Given the description of an element on the screen output the (x, y) to click on. 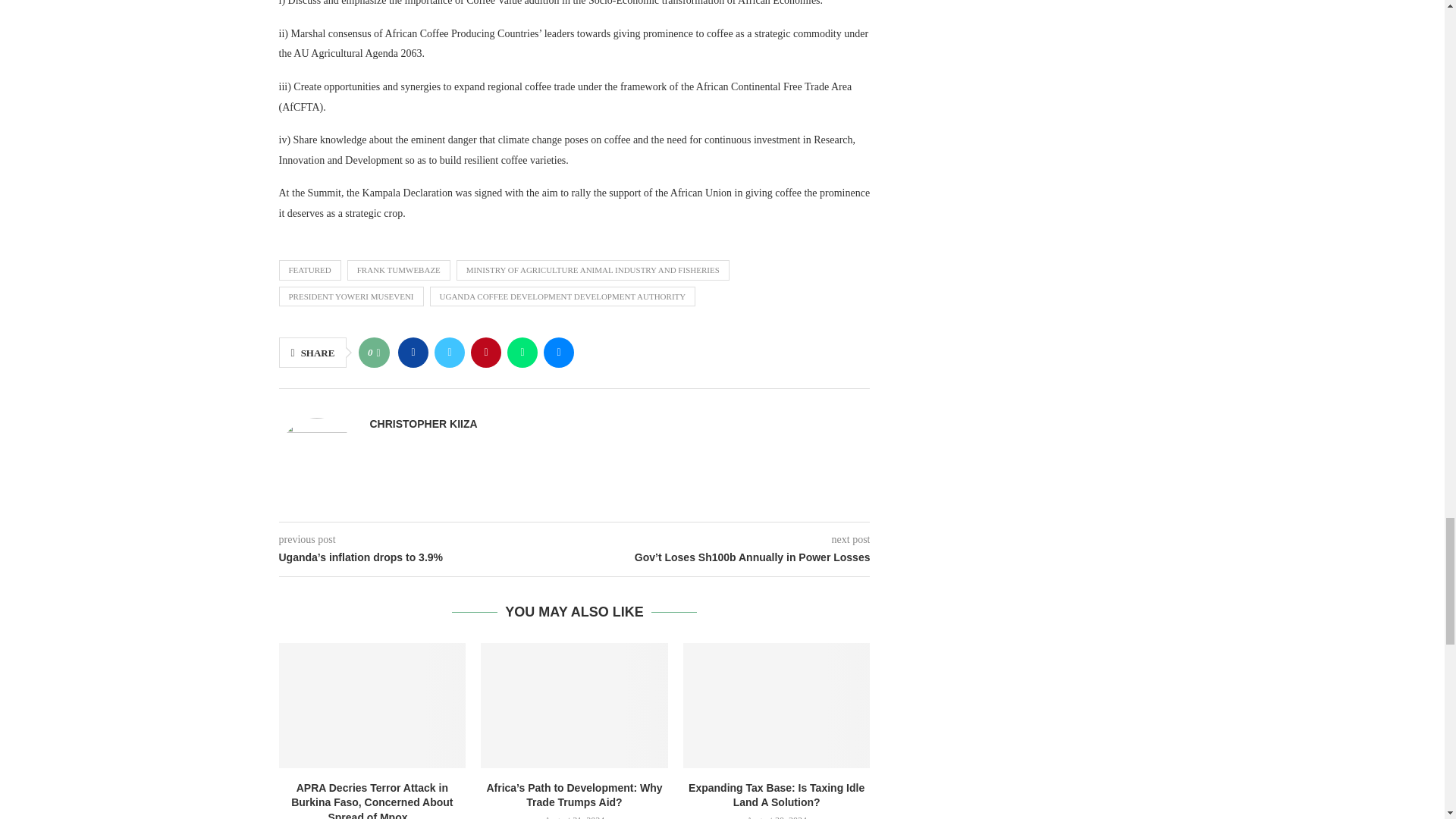
Expanding Tax Base: Is Taxing Idle Land A Solution? (776, 704)
Author Christopher Kiiza (423, 423)
